Given the description of an element on the screen output the (x, y) to click on. 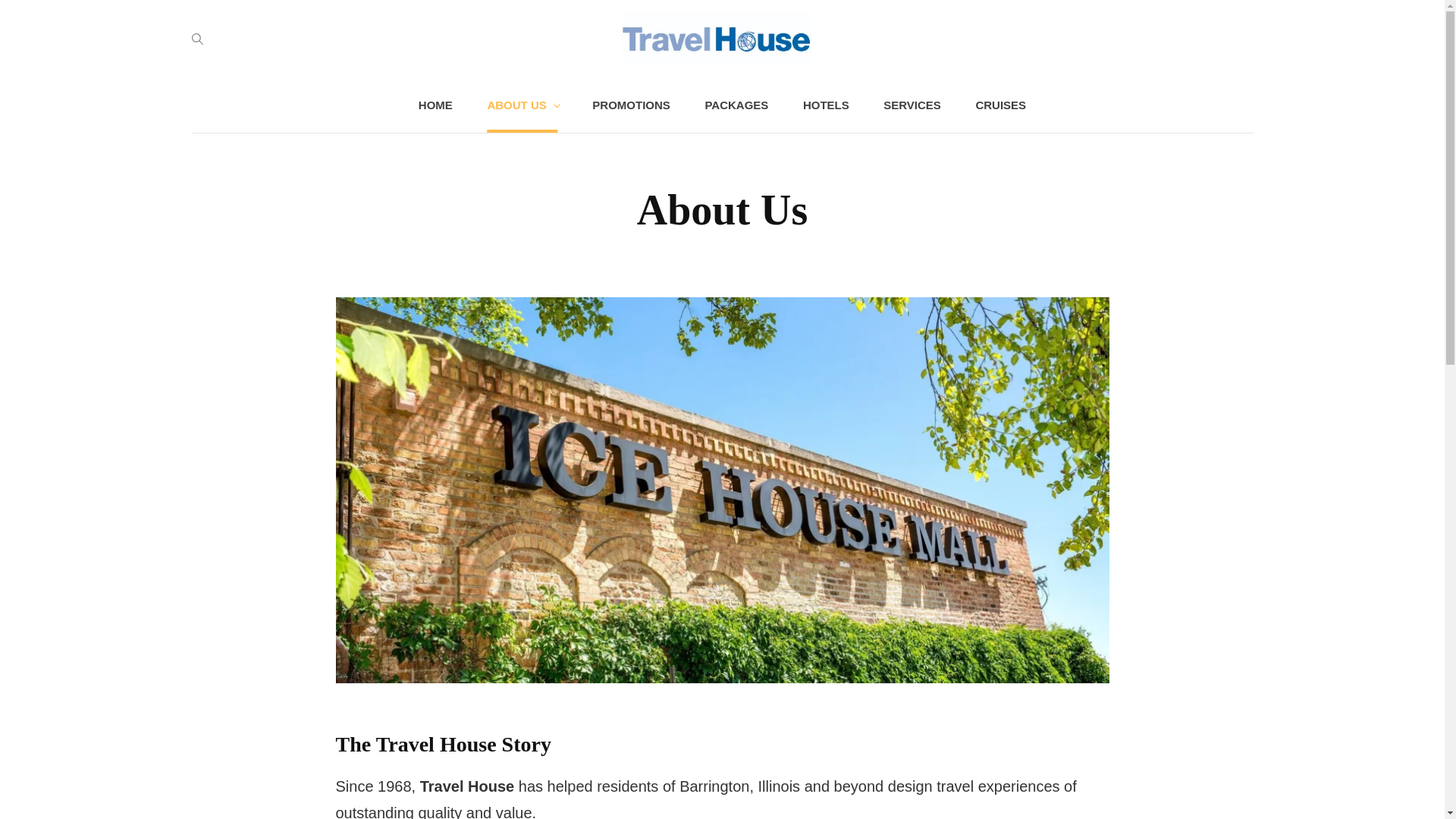
PROMOTIONS (630, 104)
HOME (435, 104)
ABOUT US (521, 104)
PACKAGES (735, 104)
SERVICES (911, 104)
CRUISES (1000, 104)
TRAVEL HOUSE INC. (886, 87)
HOTELS (825, 104)
